Given the description of an element on the screen output the (x, y) to click on. 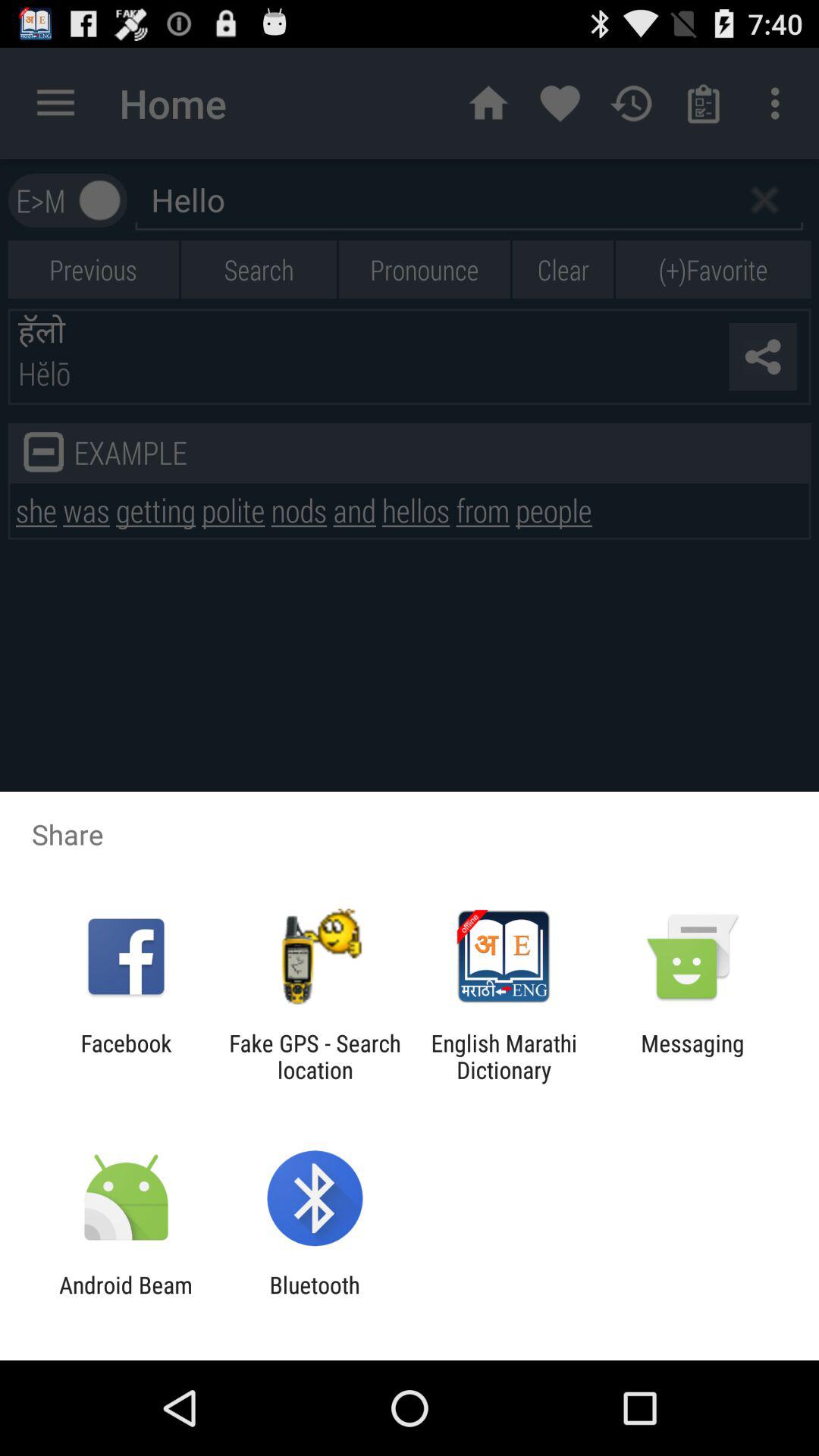
turn off the app to the left of the bluetooth (125, 1298)
